Given the description of an element on the screen output the (x, y) to click on. 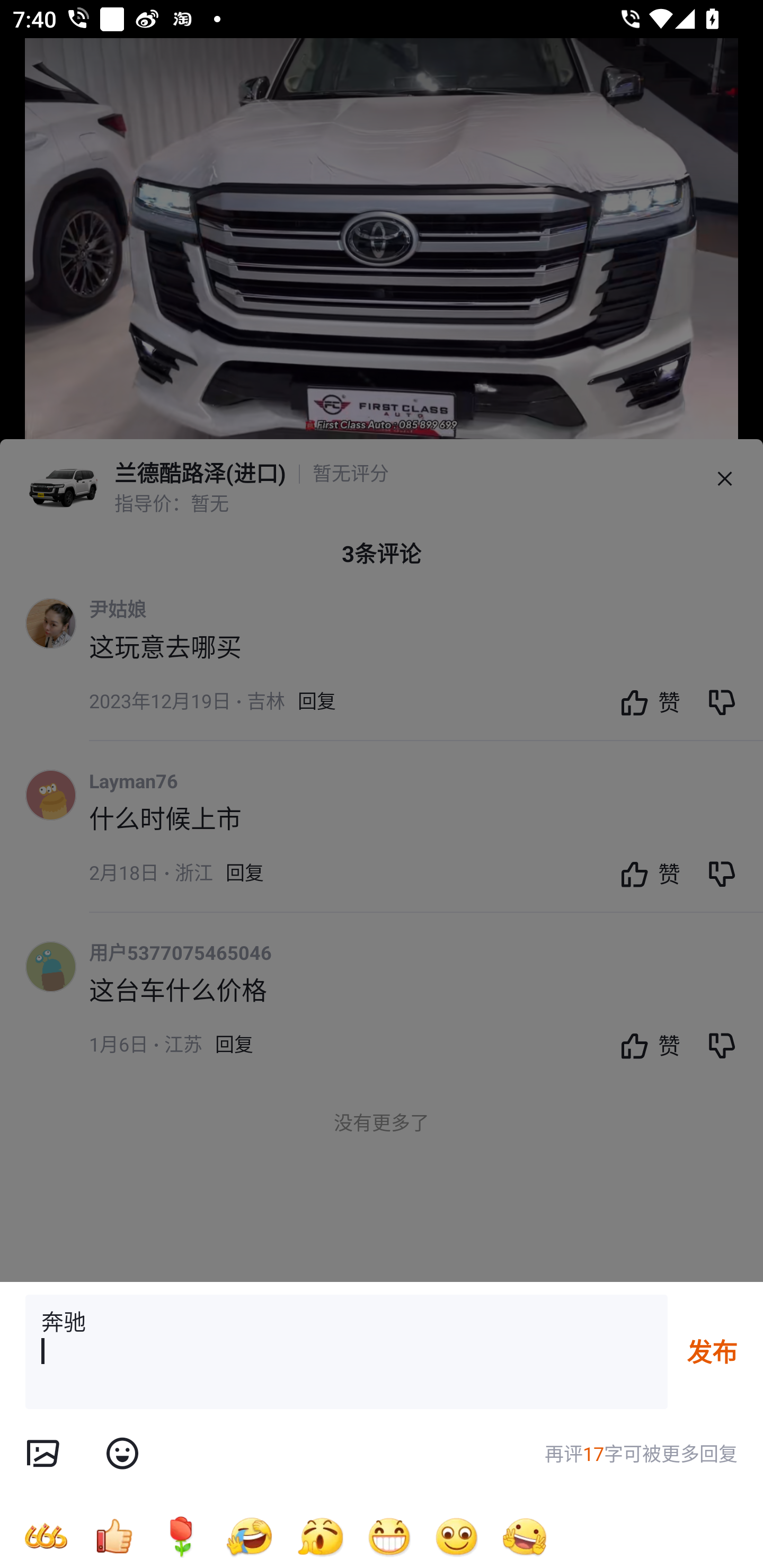
奔驰
 (346, 1352)
 (42, 1453)
 (122, 1453)
再评17字可被更多回复 (640, 1453)
[666] (45, 1535)
[赞] (112, 1535)
[玫瑰] (180, 1535)
[我想静静] (249, 1535)
[小鼓掌] (320, 1535)
[呲牙] (389, 1535)
[微笑] (456, 1535)
[耶] (524, 1535)
